Given the description of an element on the screen output the (x, y) to click on. 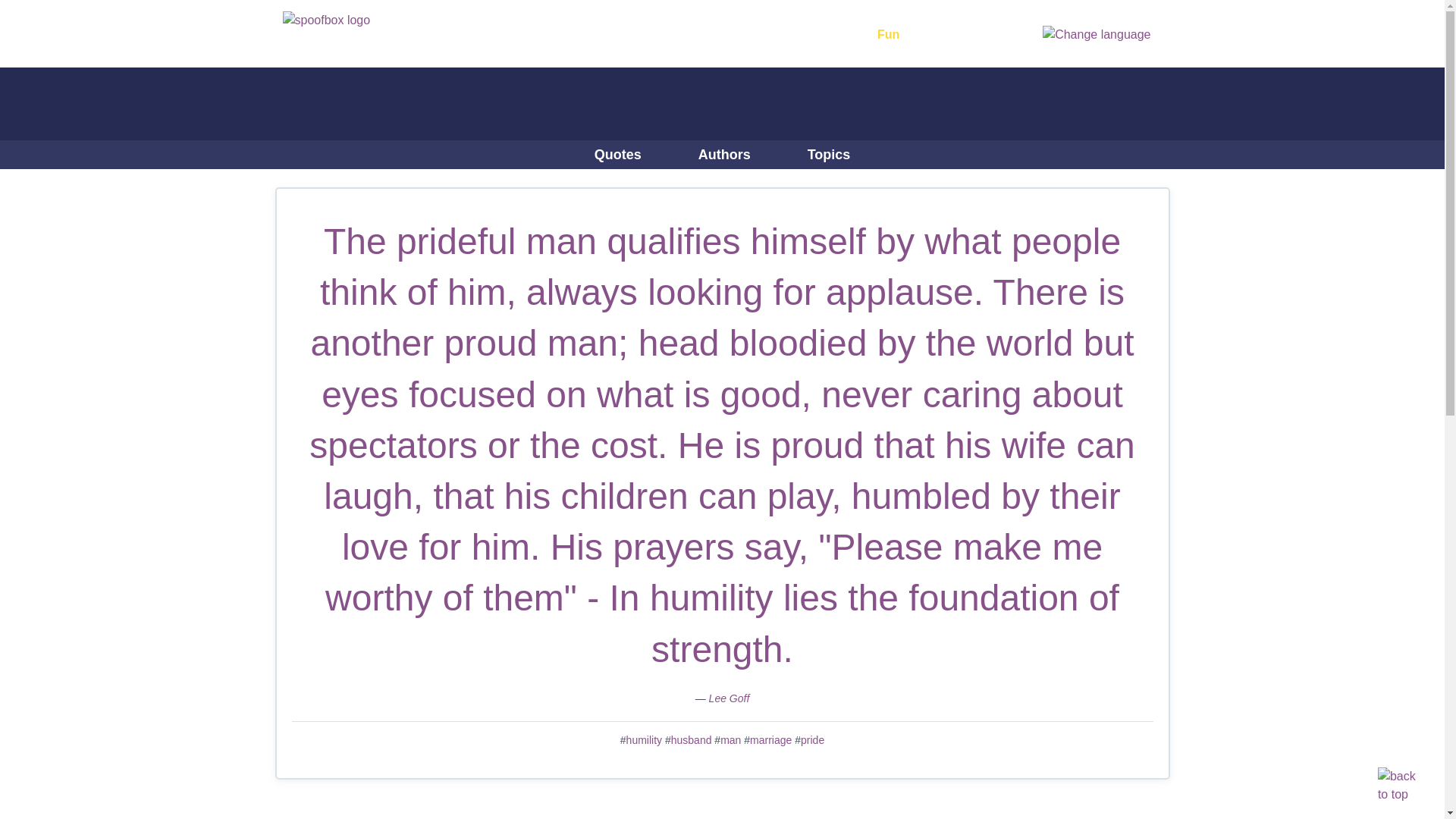
Login (992, 34)
Fun (895, 34)
Phone (578, 34)
Buy (949, 34)
Authors (724, 154)
Quotes by Lee  Goff (729, 698)
humility (644, 739)
back to top (1396, 784)
Quotes (617, 154)
Spoof (744, 34)
Topics (828, 154)
Change language (1096, 33)
Tools (823, 34)
Pranks (662, 34)
Lee Goff (729, 698)
